Given the description of an element on the screen output the (x, y) to click on. 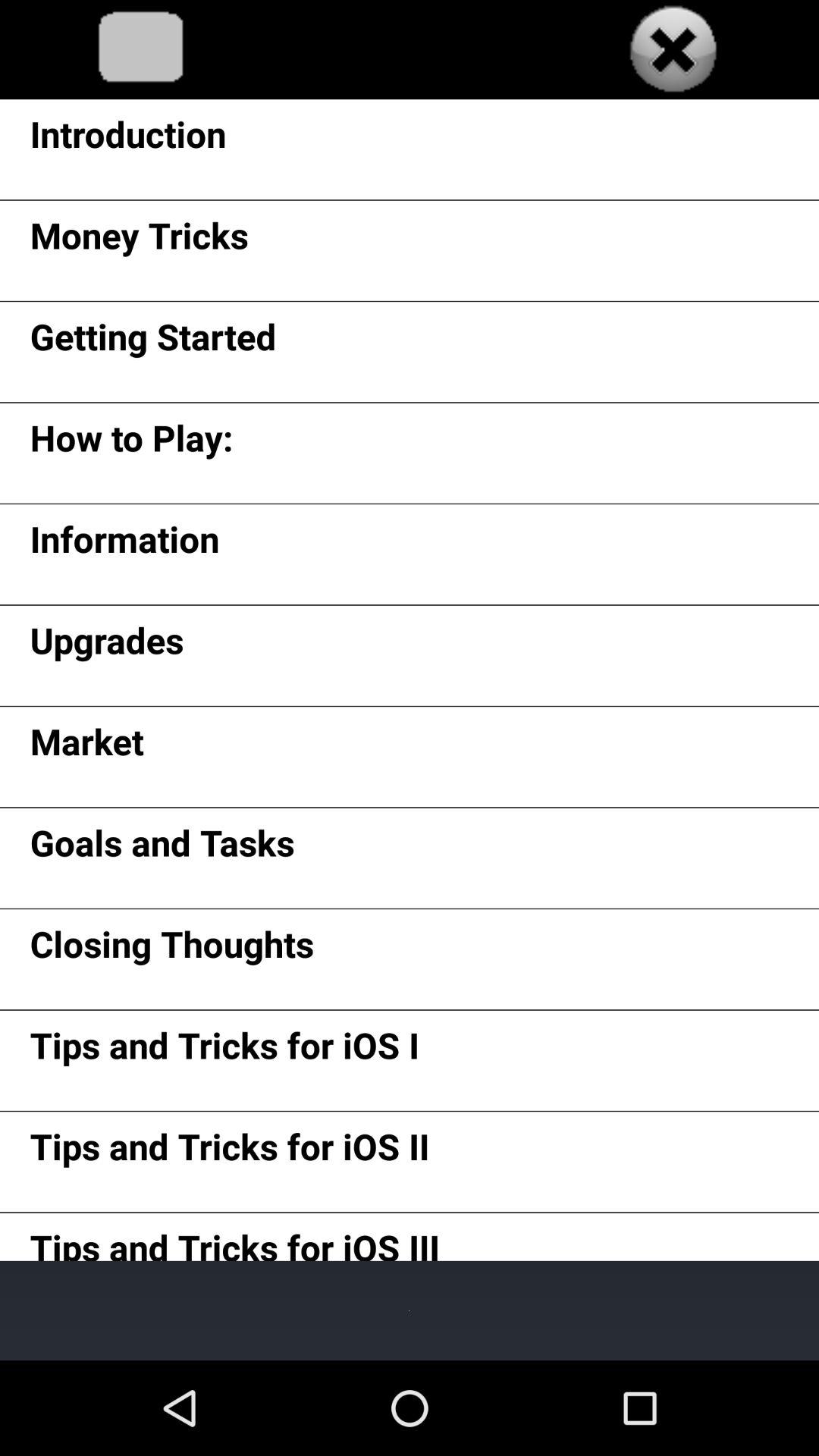
open the app above getting started icon (139, 240)
